Given the description of an element on the screen output the (x, y) to click on. 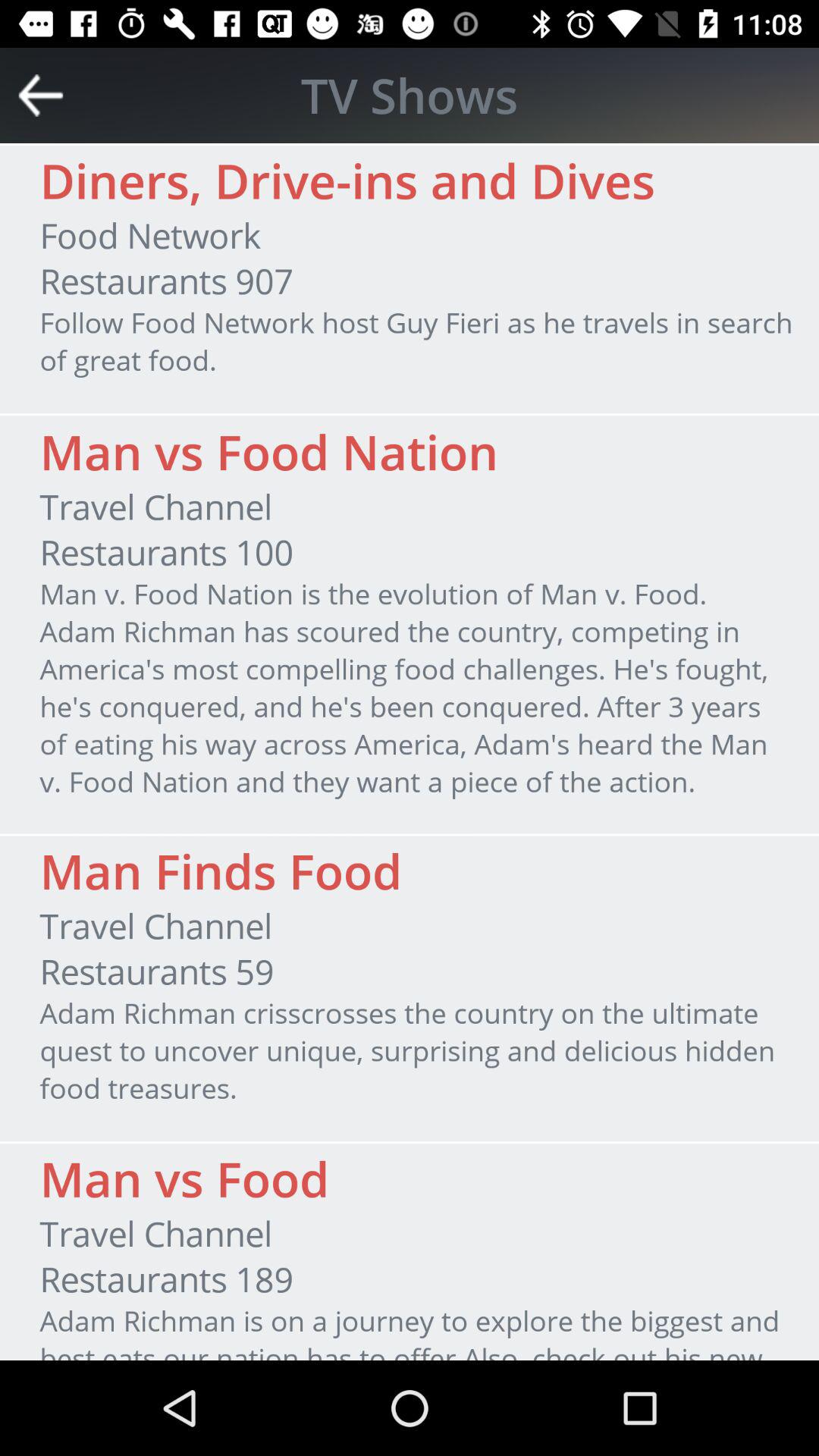
turn off item below travel channel icon (166, 552)
